Given the description of an element on the screen output the (x, y) to click on. 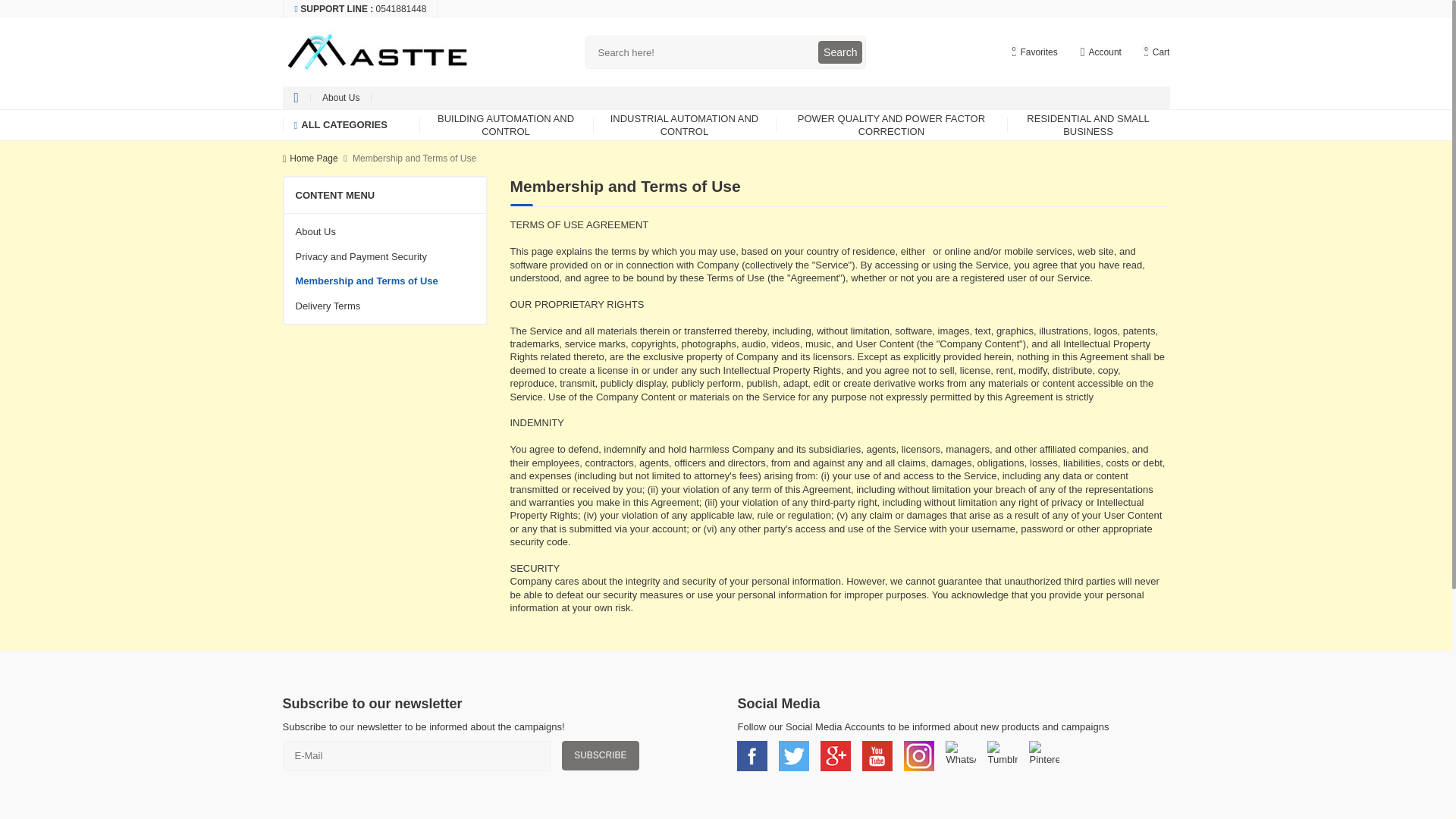
About Us (341, 97)
Building Automation and Control (505, 124)
Residential and Small Business (1034, 51)
Industrial Automation and Control (1088, 124)
BUILDING AUTOMATION AND CONTROL (684, 124)
Account (505, 124)
Power Quality and Power Factor Correction (1100, 51)
Search (1157, 51)
